Given the description of an element on the screen output the (x, y) to click on. 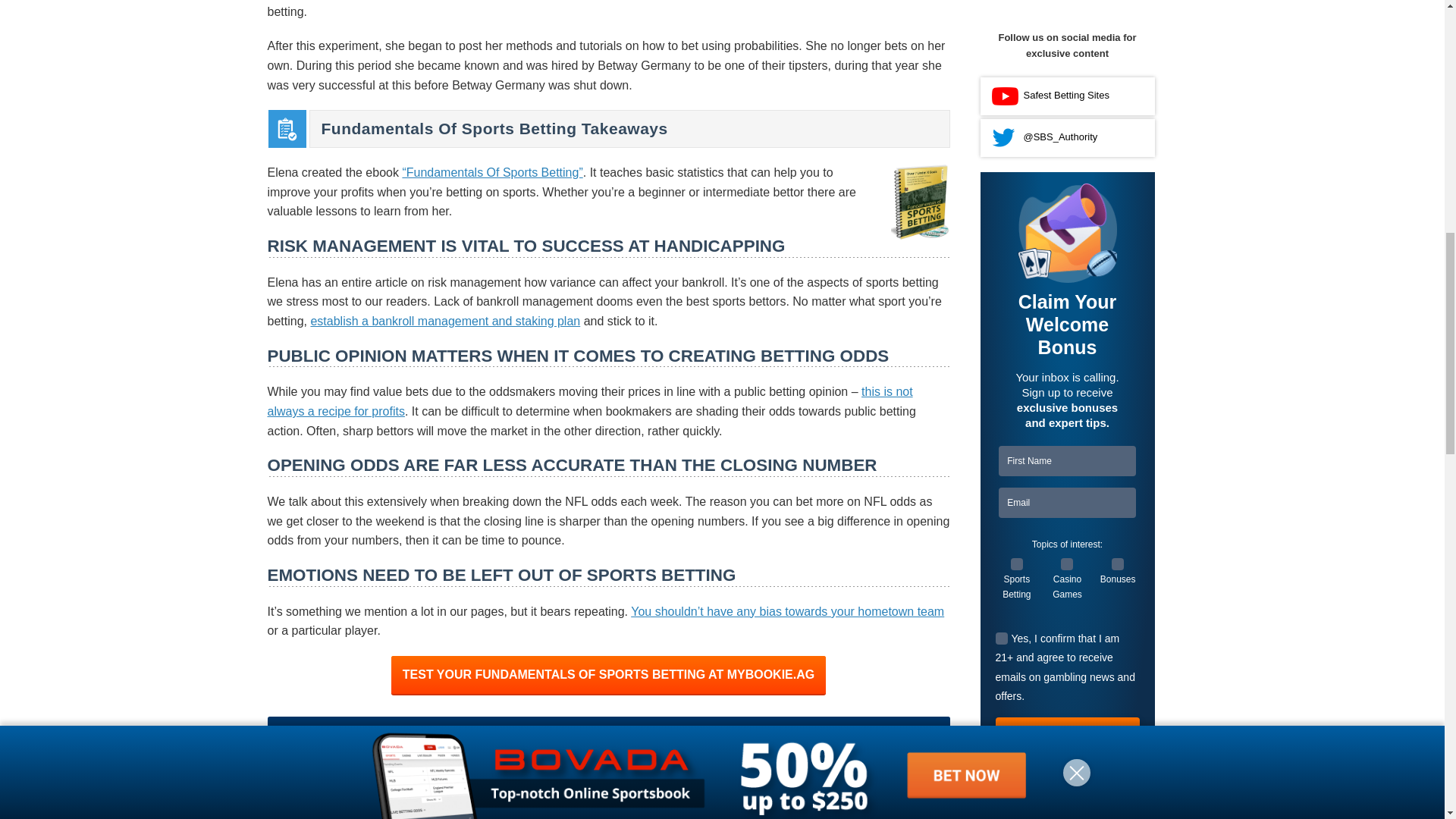
1 (1000, 2)
Learn More About Joseph Falchetti (678, 795)
Get Your Bonus (1066, 94)
Read Our Policy on Privacy (1099, 169)
